Given the description of an element on the screen output the (x, y) to click on. 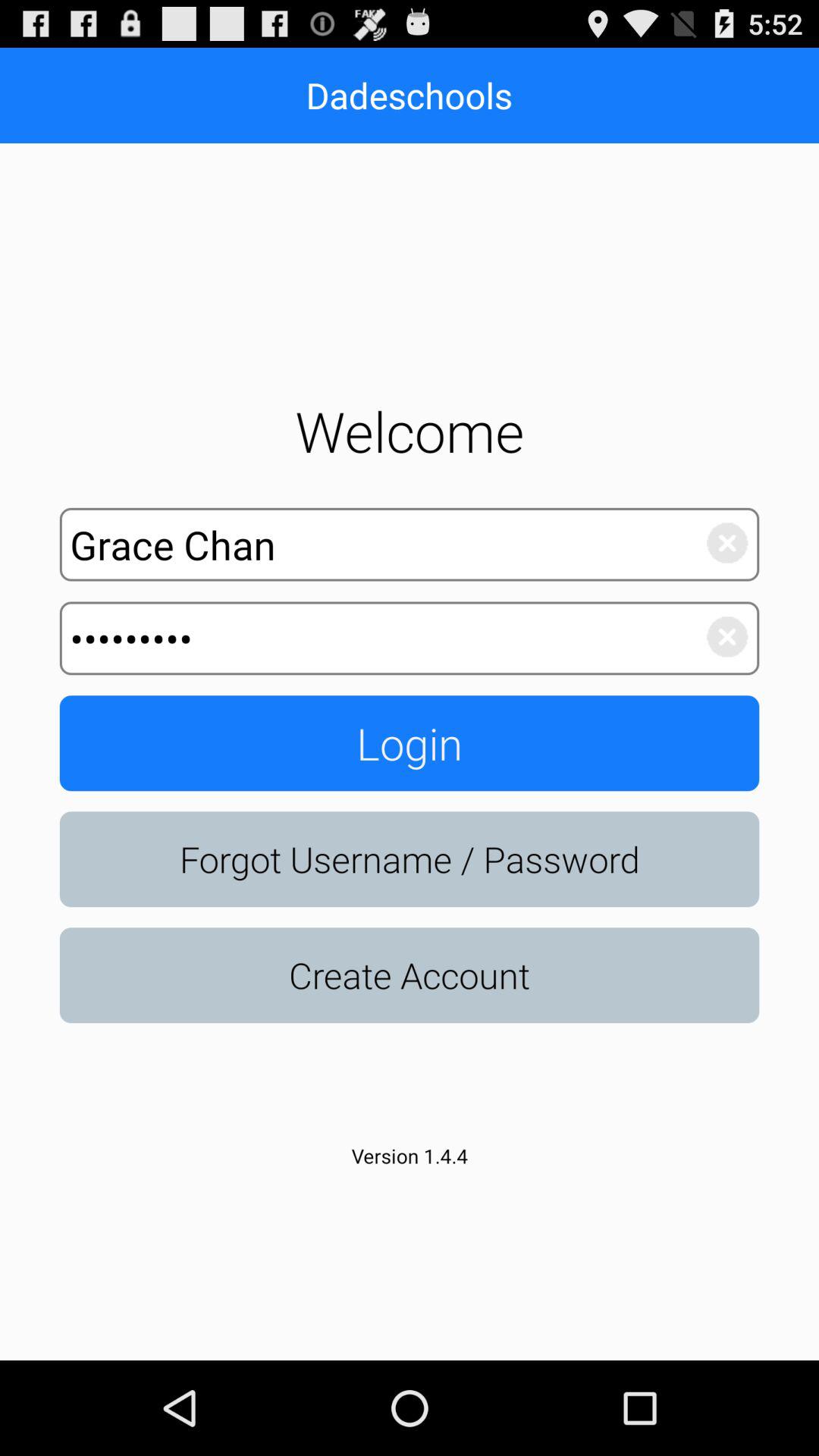
cancel (719, 638)
